Given the description of an element on the screen output the (x, y) to click on. 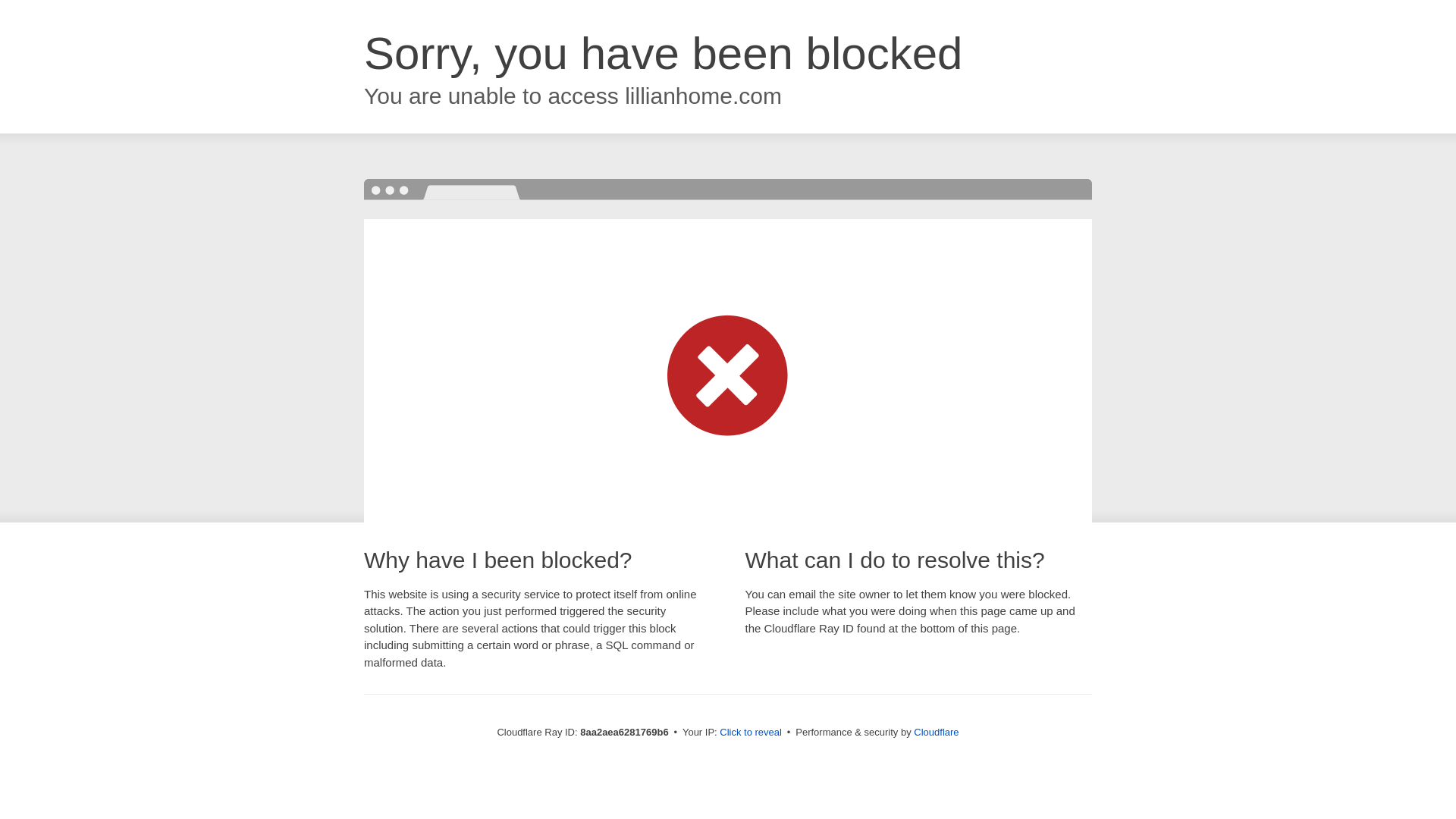
Click to reveal (750, 732)
Cloudflare (936, 731)
